Given the description of an element on the screen output the (x, y) to click on. 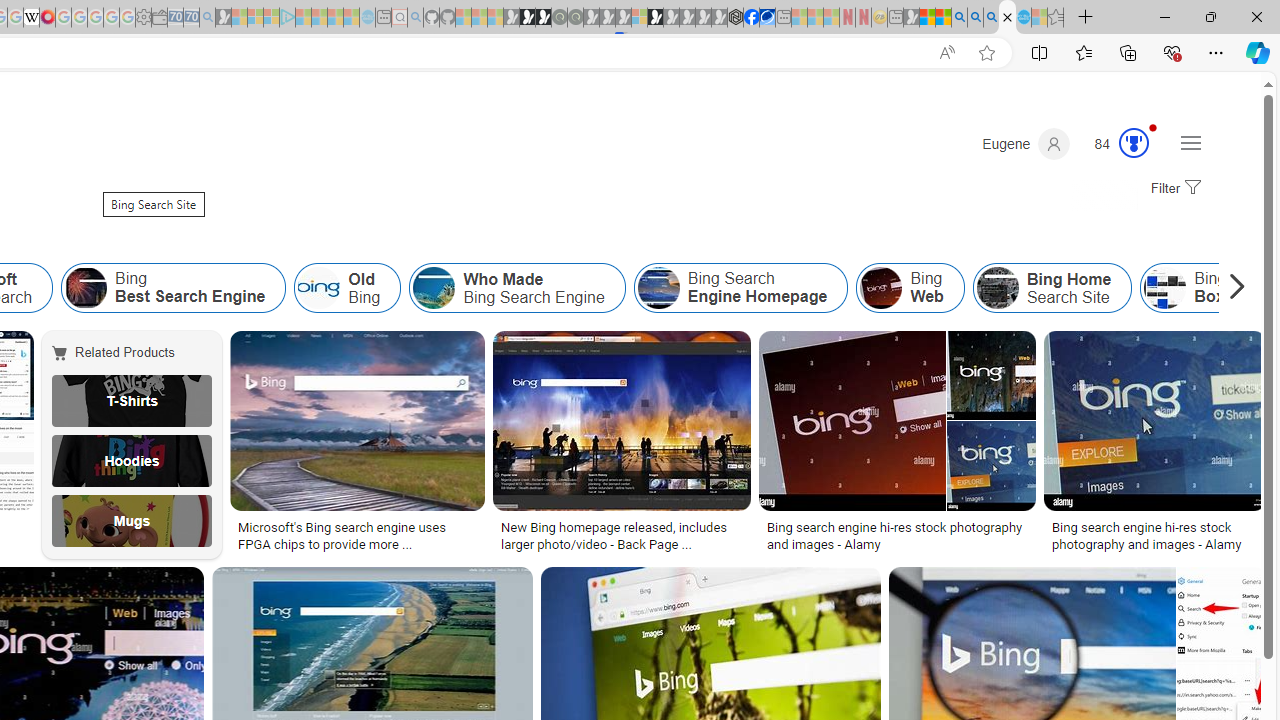
Bing Search Site - Search Images (1007, 17)
